Given the description of an element on the screen output the (x, y) to click on. 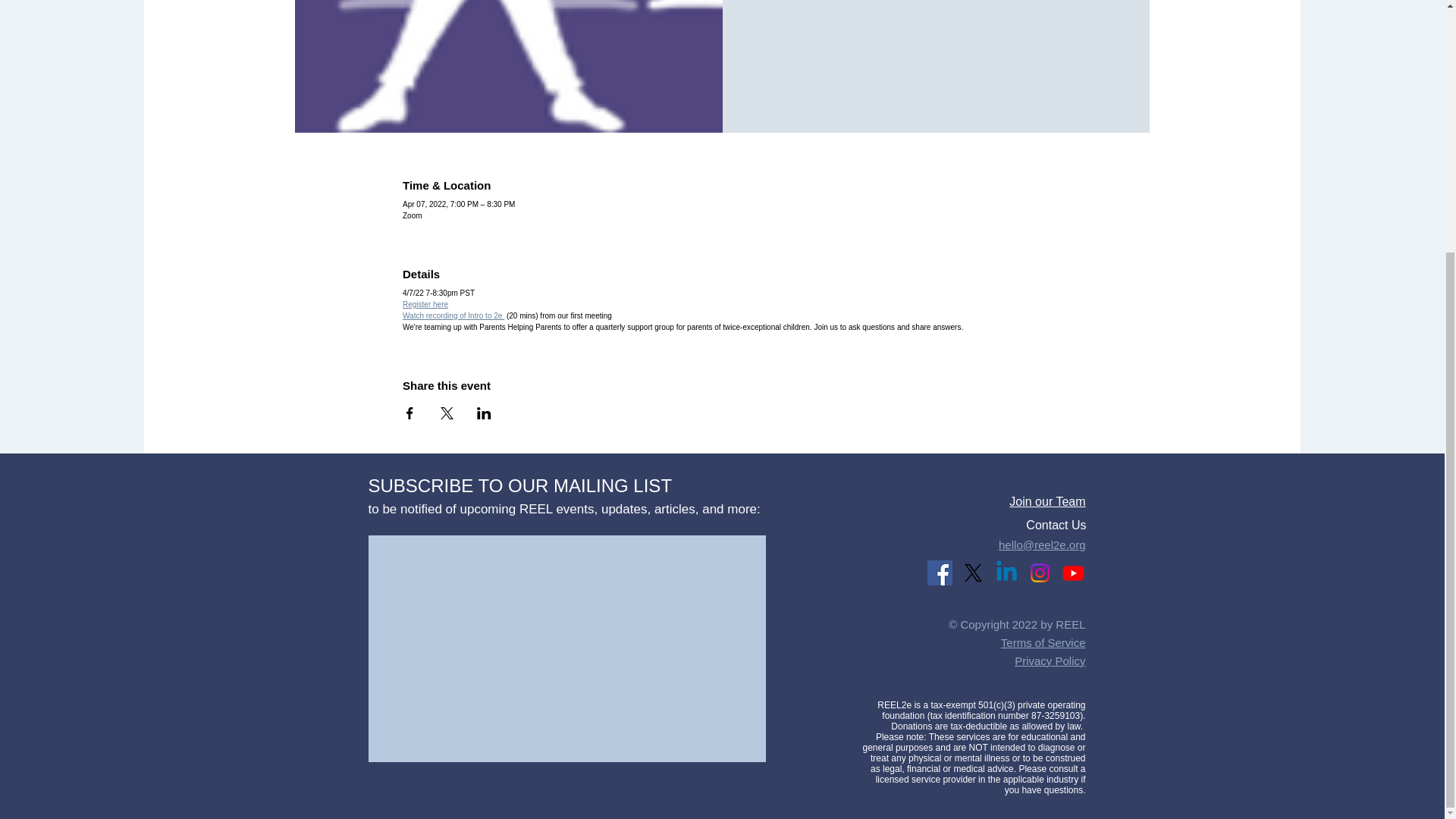
Privacy Policy (1049, 660)
Watch recording of Intro to 2e (453, 316)
Join our Team (1046, 501)
Register here (425, 303)
Terms of Service (1043, 642)
Embedded Content (564, 646)
